Given the description of an element on the screen output the (x, y) to click on. 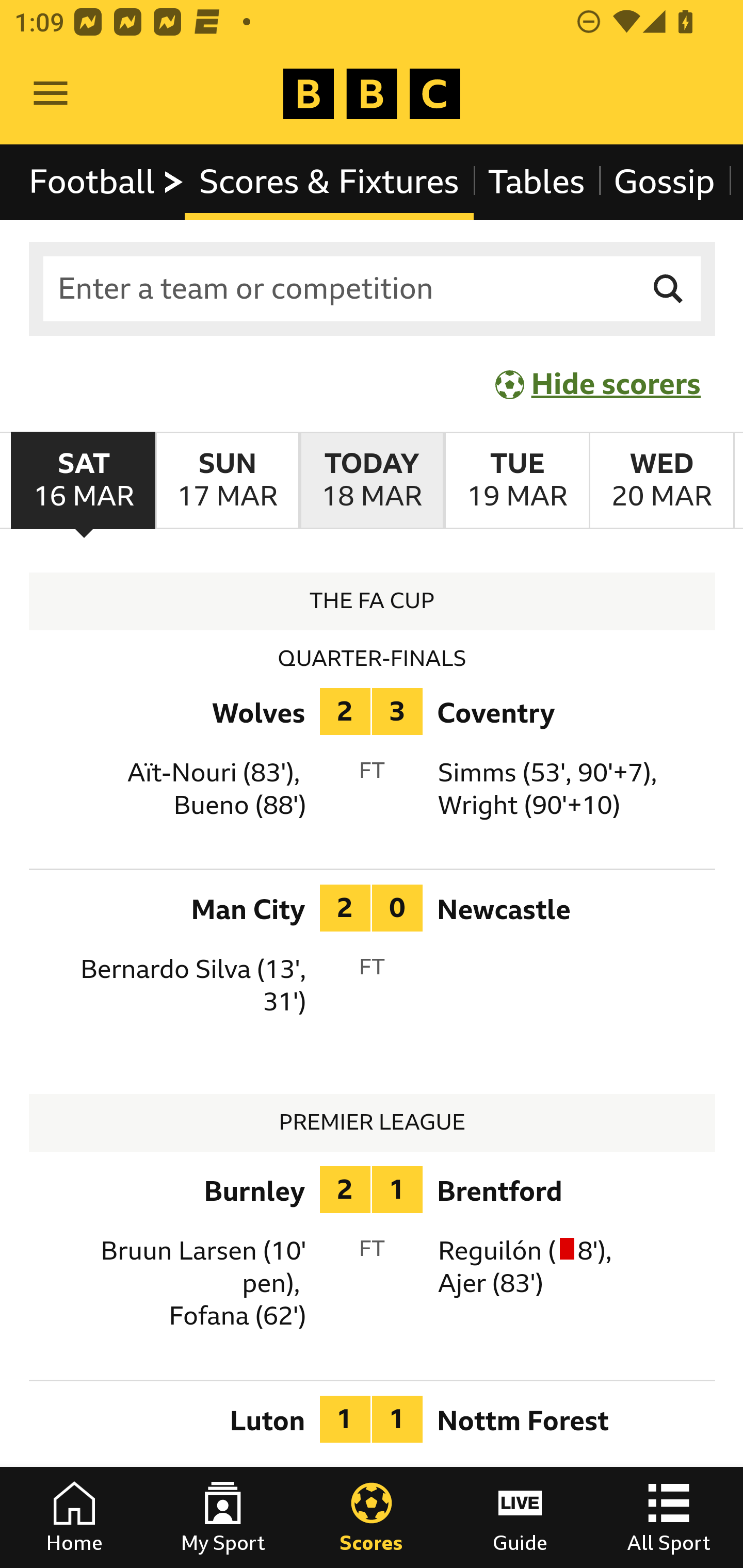
Open Menu (50, 93)
Football  (106, 181)
Scores & Fixtures (329, 181)
Tables (536, 181)
Gossip (664, 181)
Search (669, 289)
Hide scorers (598, 383)
SundayMarch 17th Sunday March 17th (227, 480)
TodayMarch 18th Today March 18th (371, 480)
TuesdayMarch 19th Tuesday March 19th (516, 480)
WednesdayMarch 20th Wednesday March 20th (661, 480)
Home (74, 1517)
My Sport (222, 1517)
Guide (519, 1517)
All Sport (668, 1517)
